Given the description of an element on the screen output the (x, y) to click on. 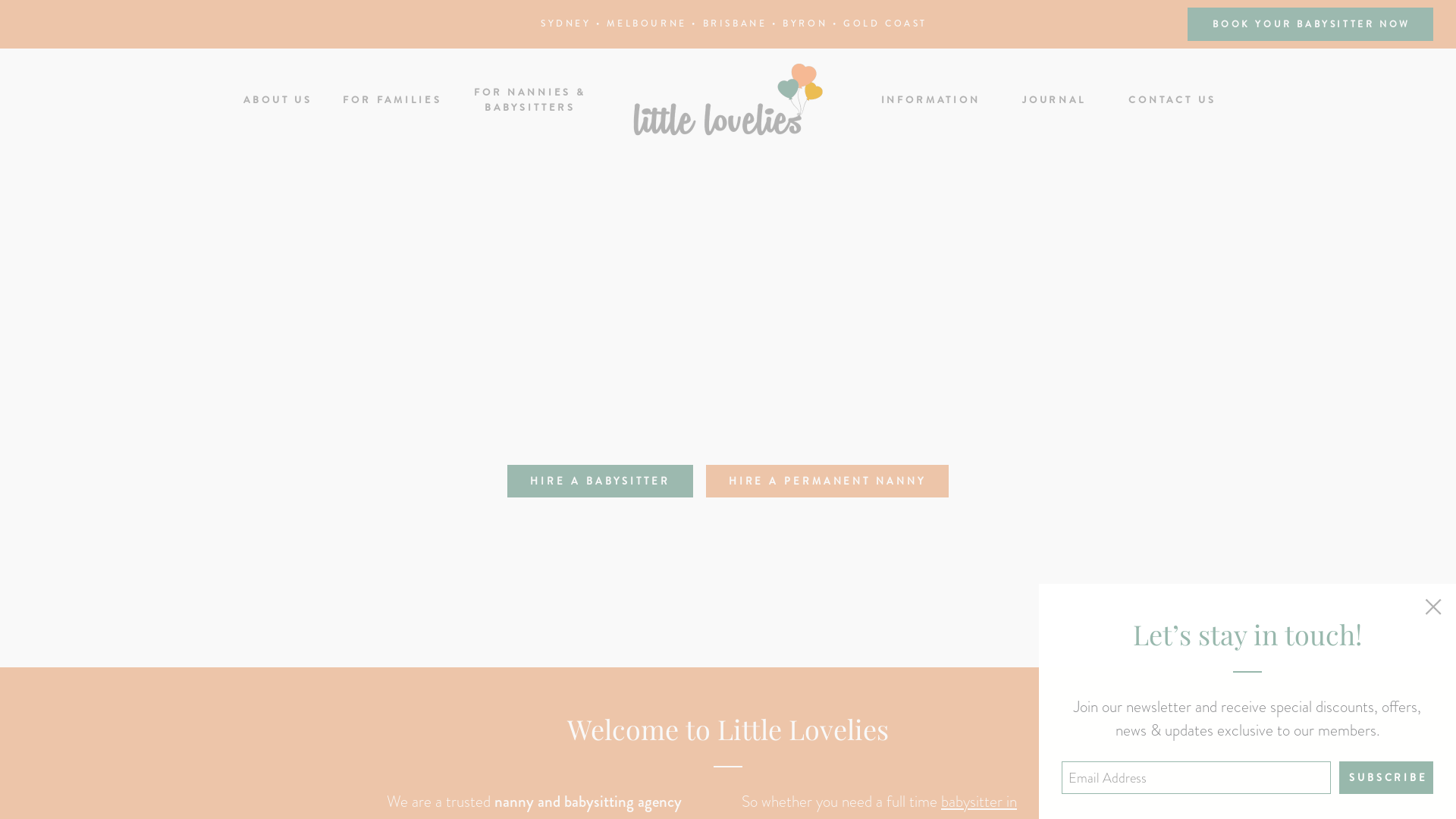
BOOK YOUR BABYSITTER NOW Element type: text (1310, 23)
INFORMATION Element type: text (929, 99)
HIRE A PERMANENT NANNY Element type: text (827, 480)
JOURNAL Element type: text (1052, 99)
FOR NANNIES & BABYSITTERS Element type: text (528, 99)
FOR FAMILIES Element type: text (390, 99)
Subscribe Element type: text (1388, 777)
CONTACT US Element type: text (1170, 99)
HIRE A BABYSITTER Element type: text (599, 480)
ABOUT US Element type: text (276, 99)
